Given the description of an element on the screen output the (x, y) to click on. 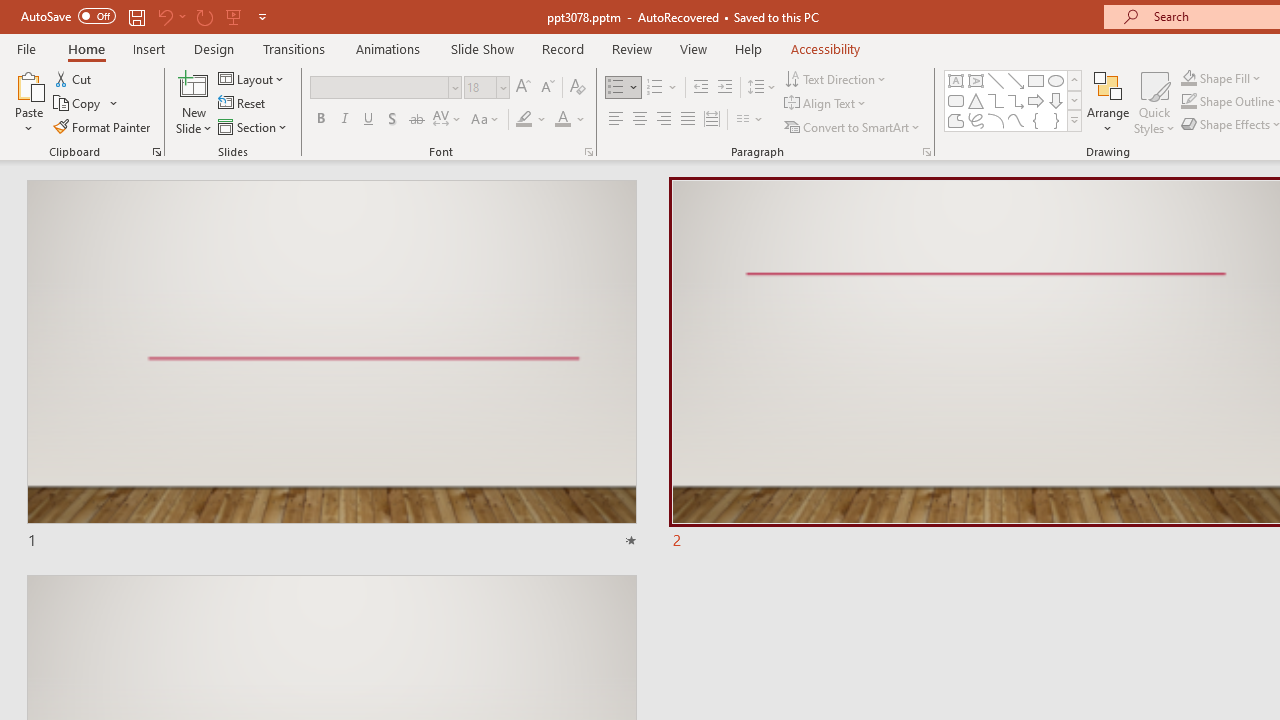
Rectangle (1035, 80)
New Slide (193, 84)
Paste (28, 84)
Center (639, 119)
Text Direction (836, 78)
Copy (78, 103)
Undo (164, 15)
Redo (204, 15)
Convert to SmartArt (853, 126)
Bold (320, 119)
Character Spacing (447, 119)
Open (502, 87)
Font Size (480, 87)
Text Box (955, 80)
Shapes (1074, 120)
